Given the description of an element on the screen output the (x, y) to click on. 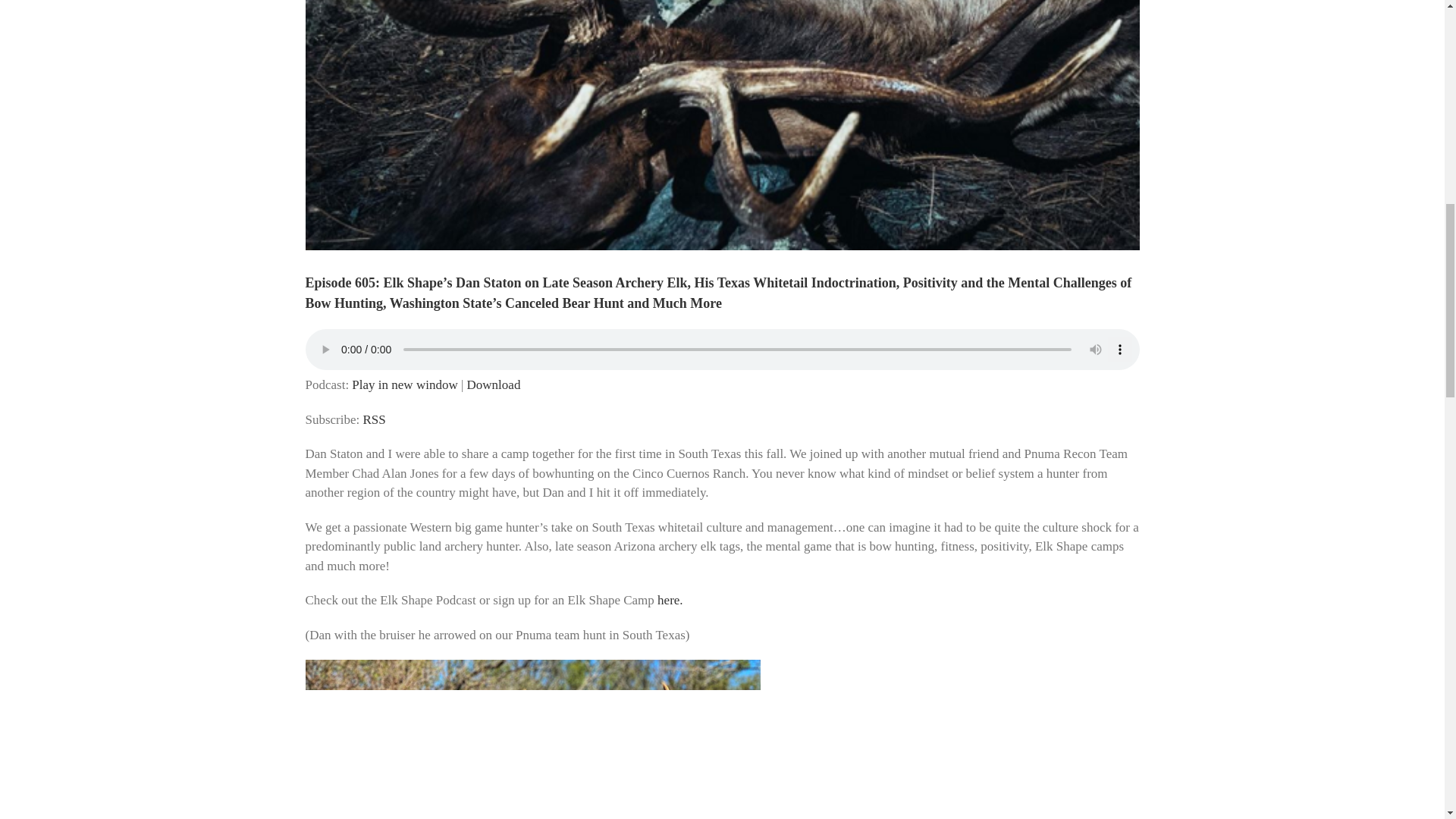
here. (670, 599)
Download (494, 384)
Play in new window (404, 384)
Subscribe via RSS (373, 419)
RSS (373, 419)
Download (494, 384)
Play in new window (404, 384)
